Given the description of an element on the screen output the (x, y) to click on. 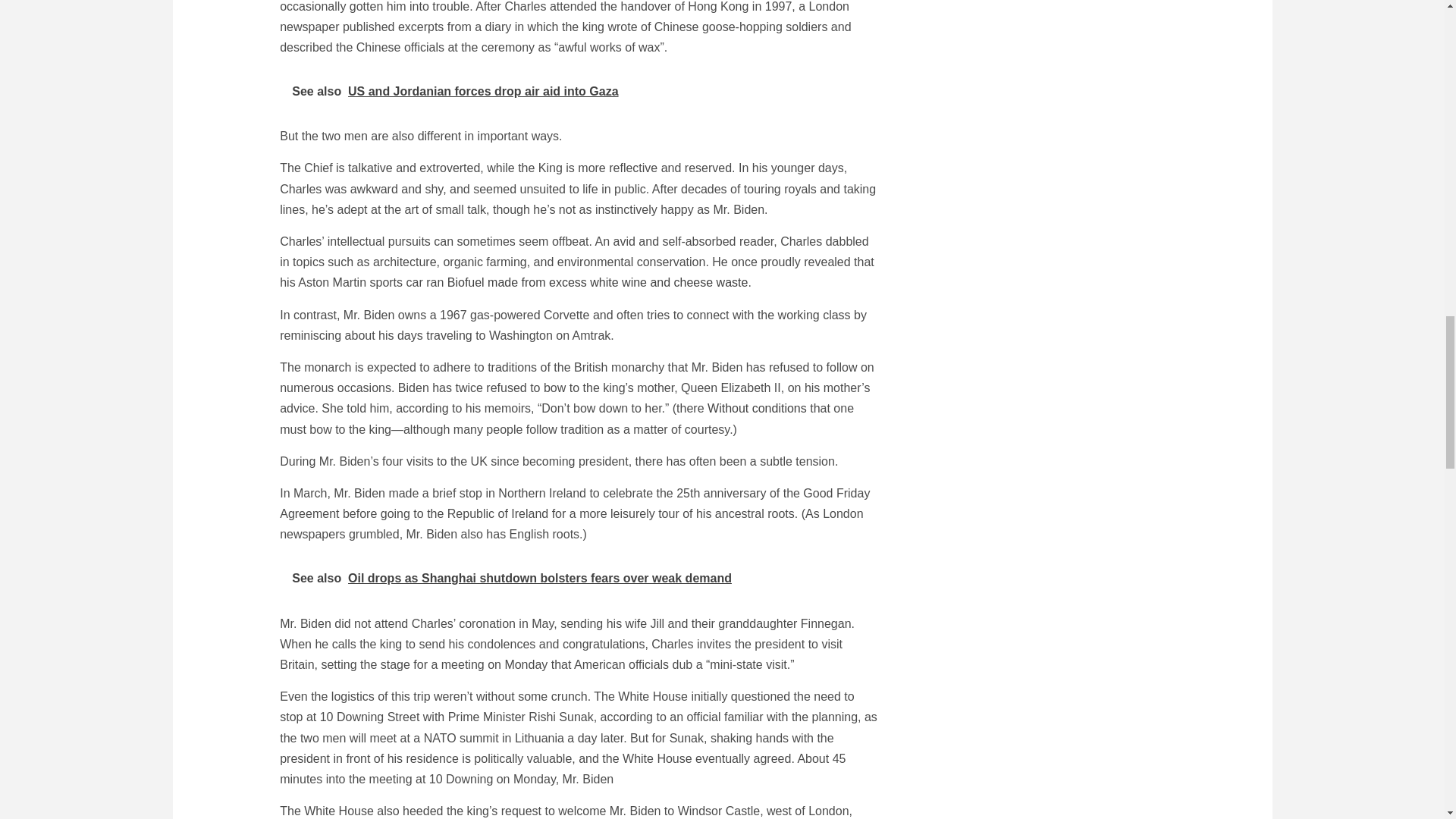
Biofuel made from excess white wine and cheese waste (597, 282)
Without conditions (756, 408)
See also  US and Jordanian forces drop air aid into Gaza (579, 90)
